Given the description of an element on the screen output the (x, y) to click on. 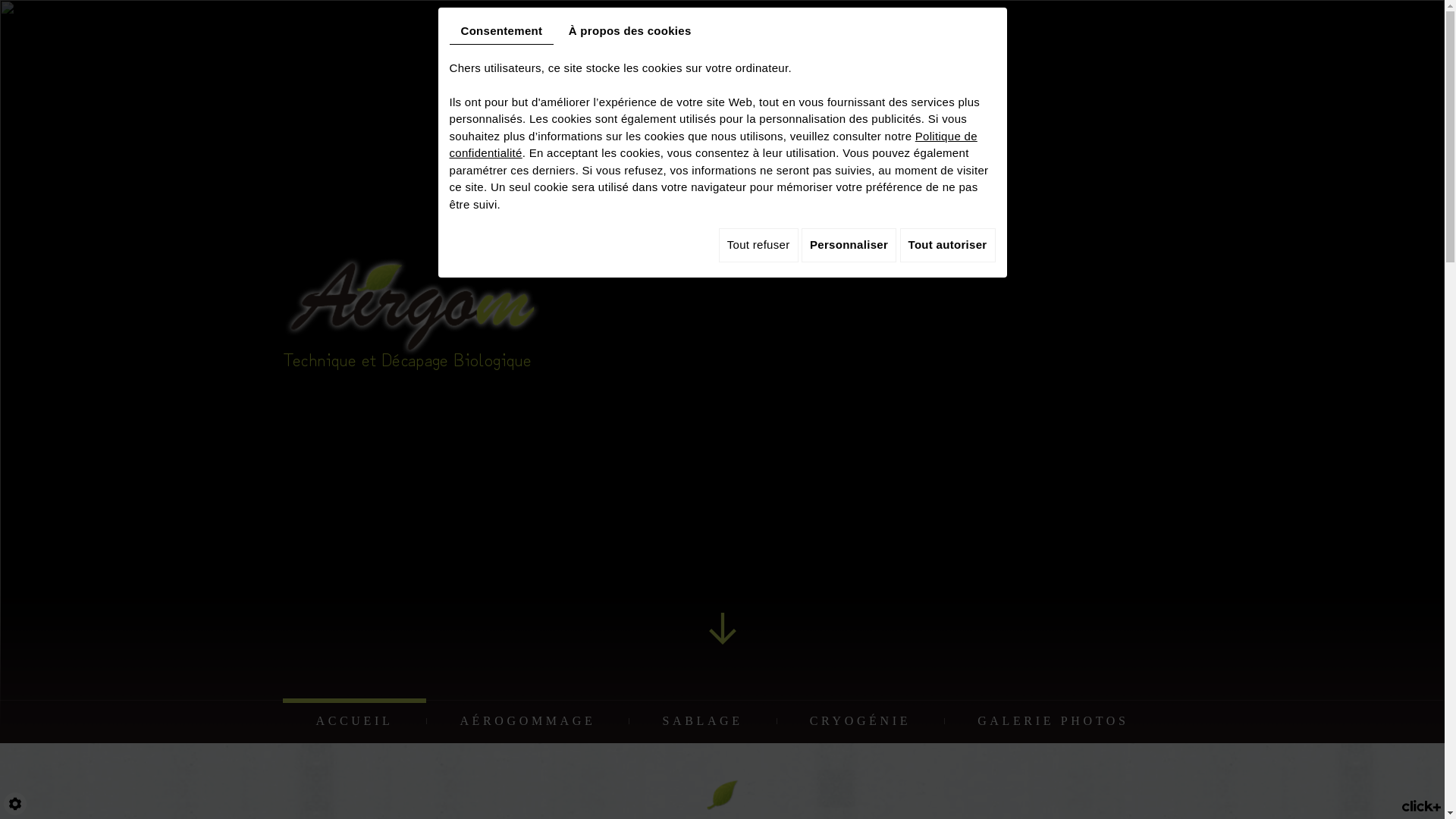
GALERIE PHOTOS Element type: text (1052, 720)
ACCUEIL Element type: text (354, 720)
SABLAGE Element type: text (701, 720)
Tout refuser Element type: text (758, 245)
Personnaliser Element type: text (848, 245)
Consentement Element type: text (500, 31)
Tout autoriser Element type: text (947, 245)
